Given the description of an element on the screen output the (x, y) to click on. 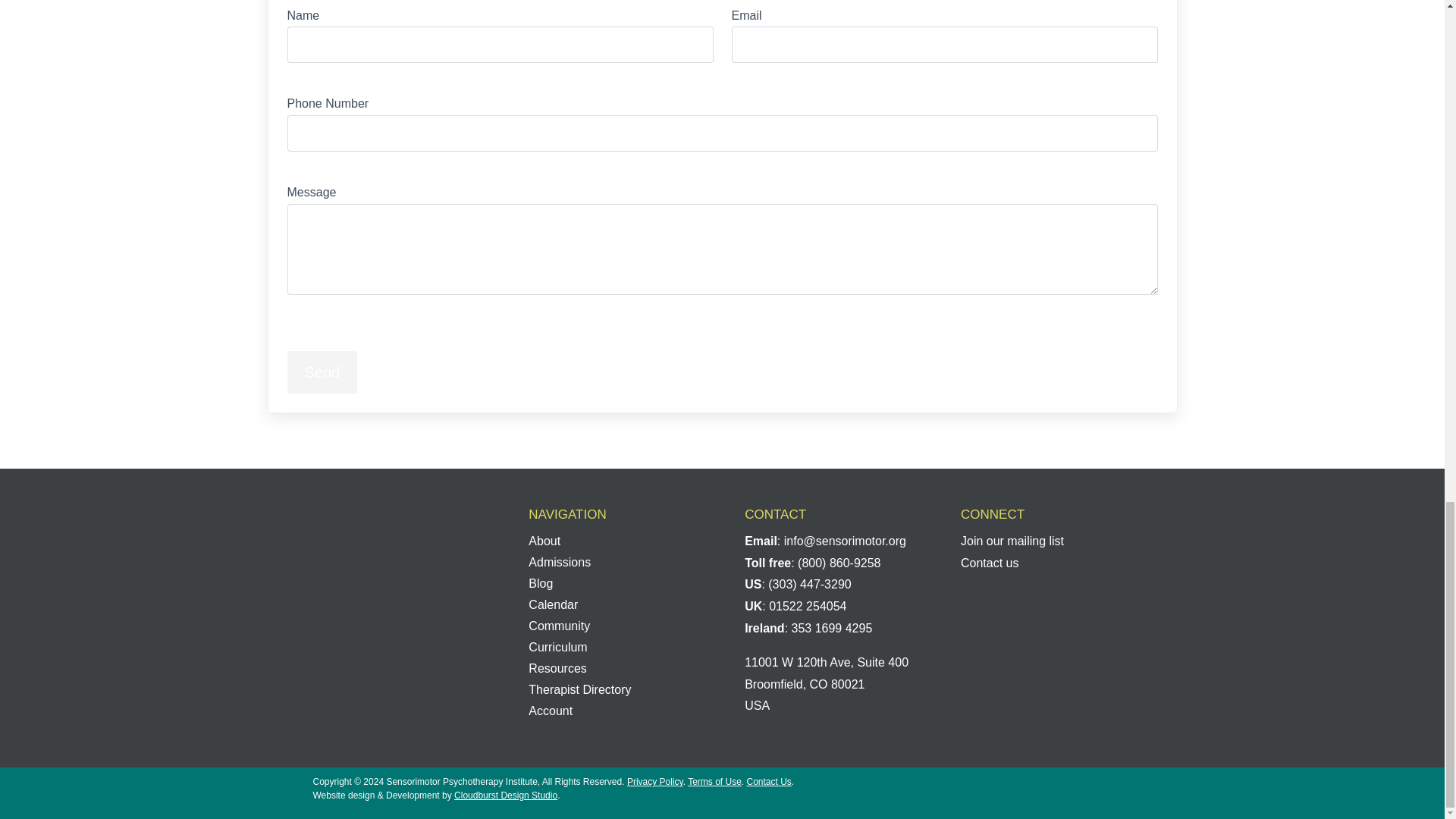
Send (321, 372)
